Given the description of an element on the screen output the (x, y) to click on. 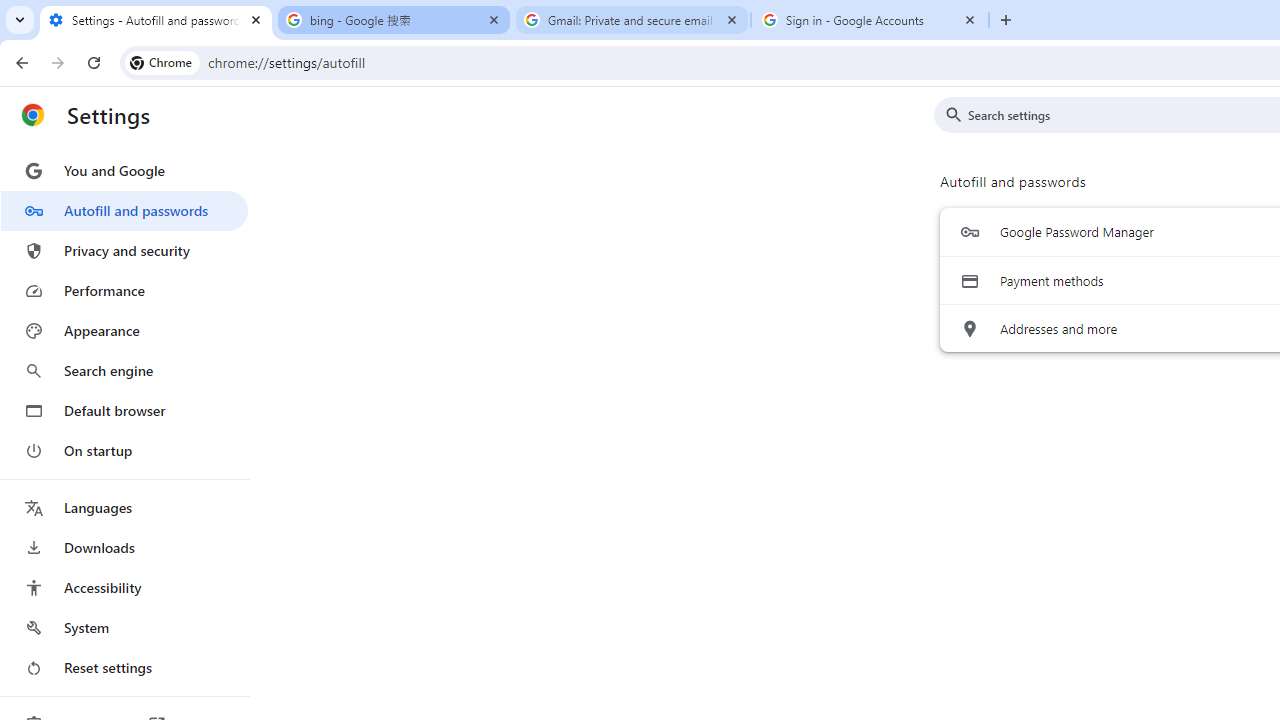
Google (120, 139)
Settings - Autofill and passwords (156, 20)
Bing Images (304, 594)
Microsoft (290, 659)
Image Creator (313, 461)
